Given the description of an element on the screen output the (x, y) to click on. 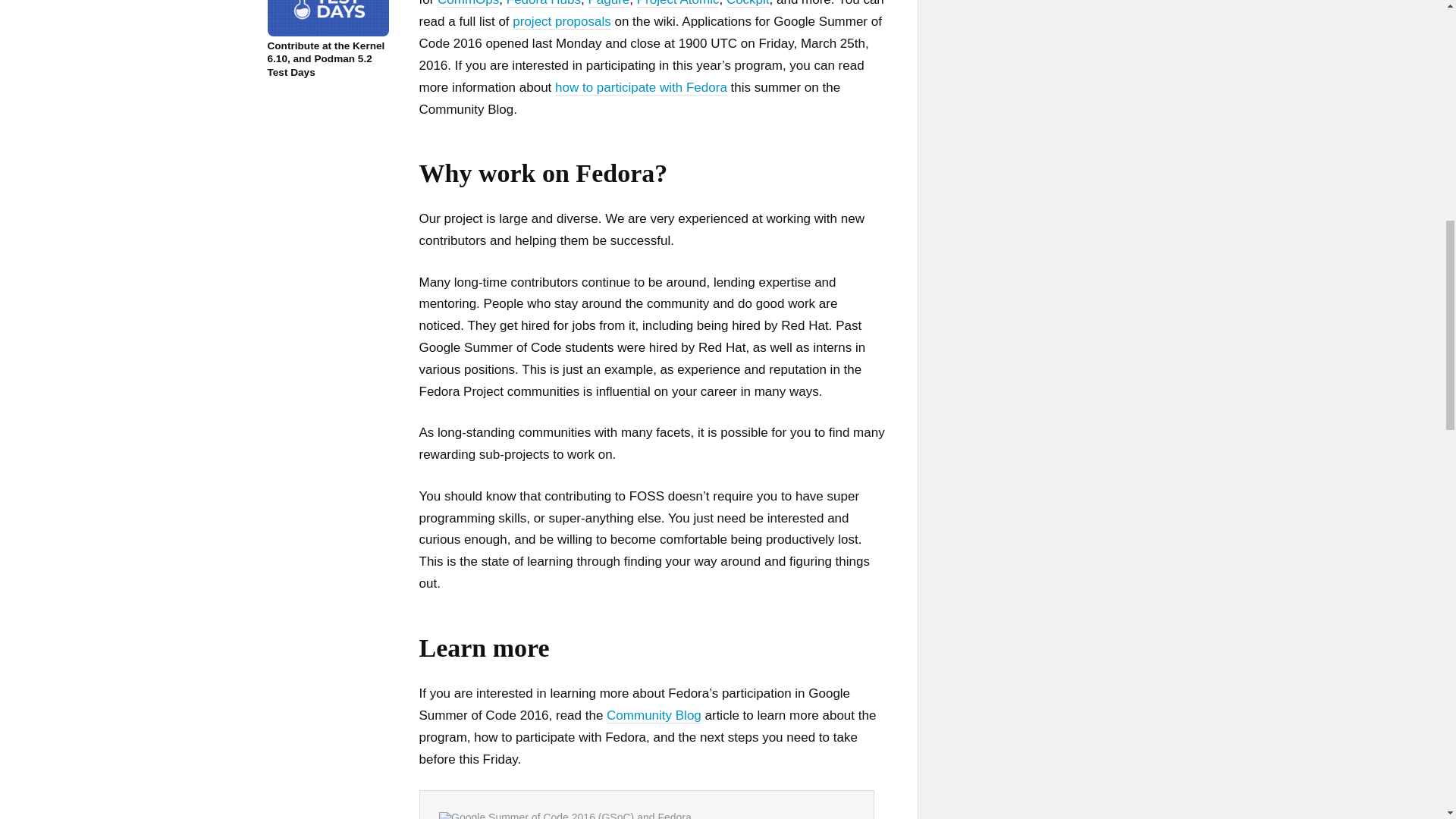
project proposals (561, 21)
Pagure (608, 3)
Project Atomic (678, 3)
Fedora Hubs (543, 3)
how to participate with Fedora (640, 87)
Contribute at the Kernel 6.10, and Podman 5.2 Test Days (327, 39)
Cockpit (748, 3)
Community Blog (654, 715)
CommOps (468, 3)
